Given the description of an element on the screen output the (x, y) to click on. 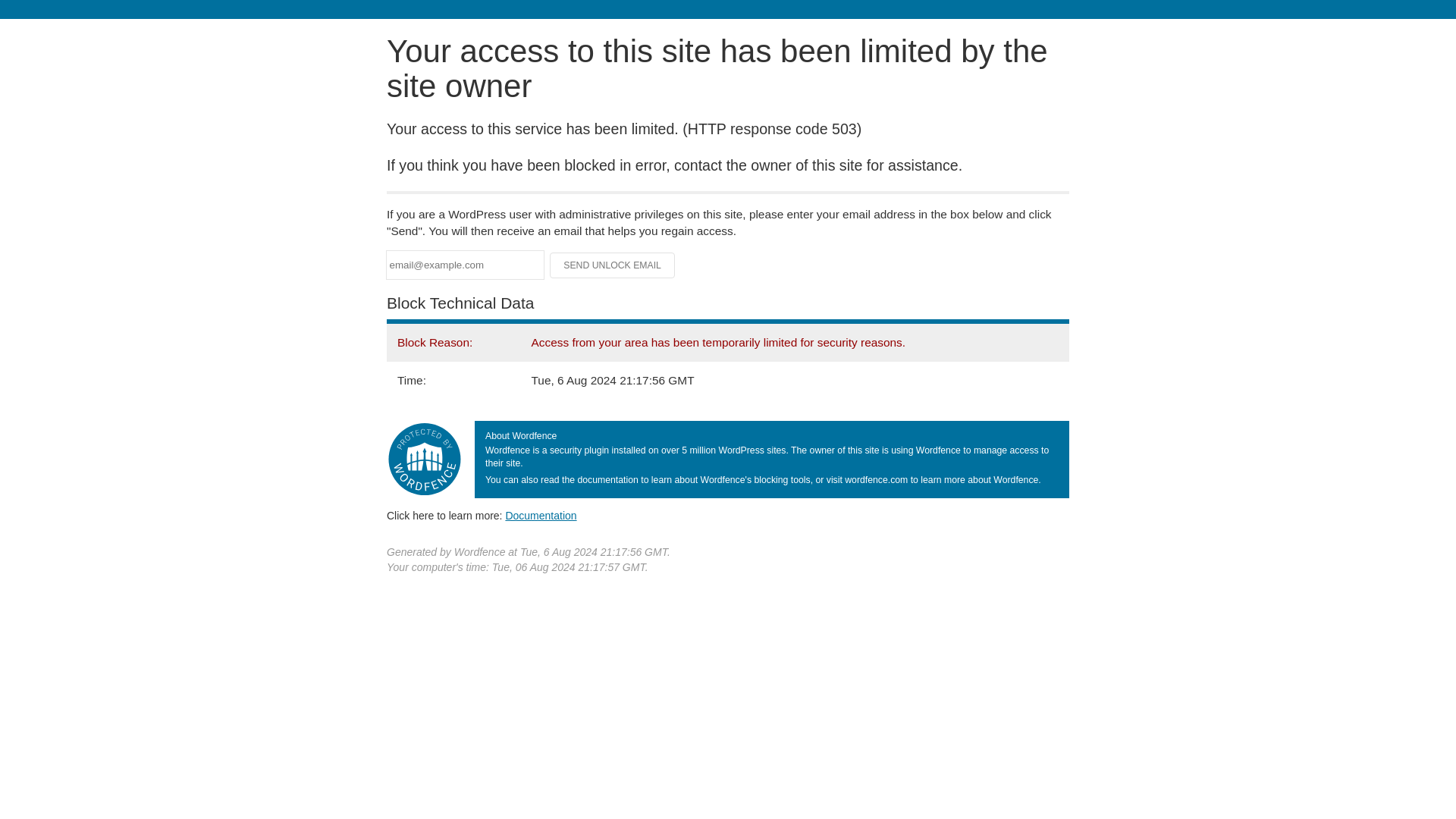
Documentation (540, 515)
Send Unlock Email (612, 265)
Send Unlock Email (612, 265)
